Given the description of an element on the screen output the (x, y) to click on. 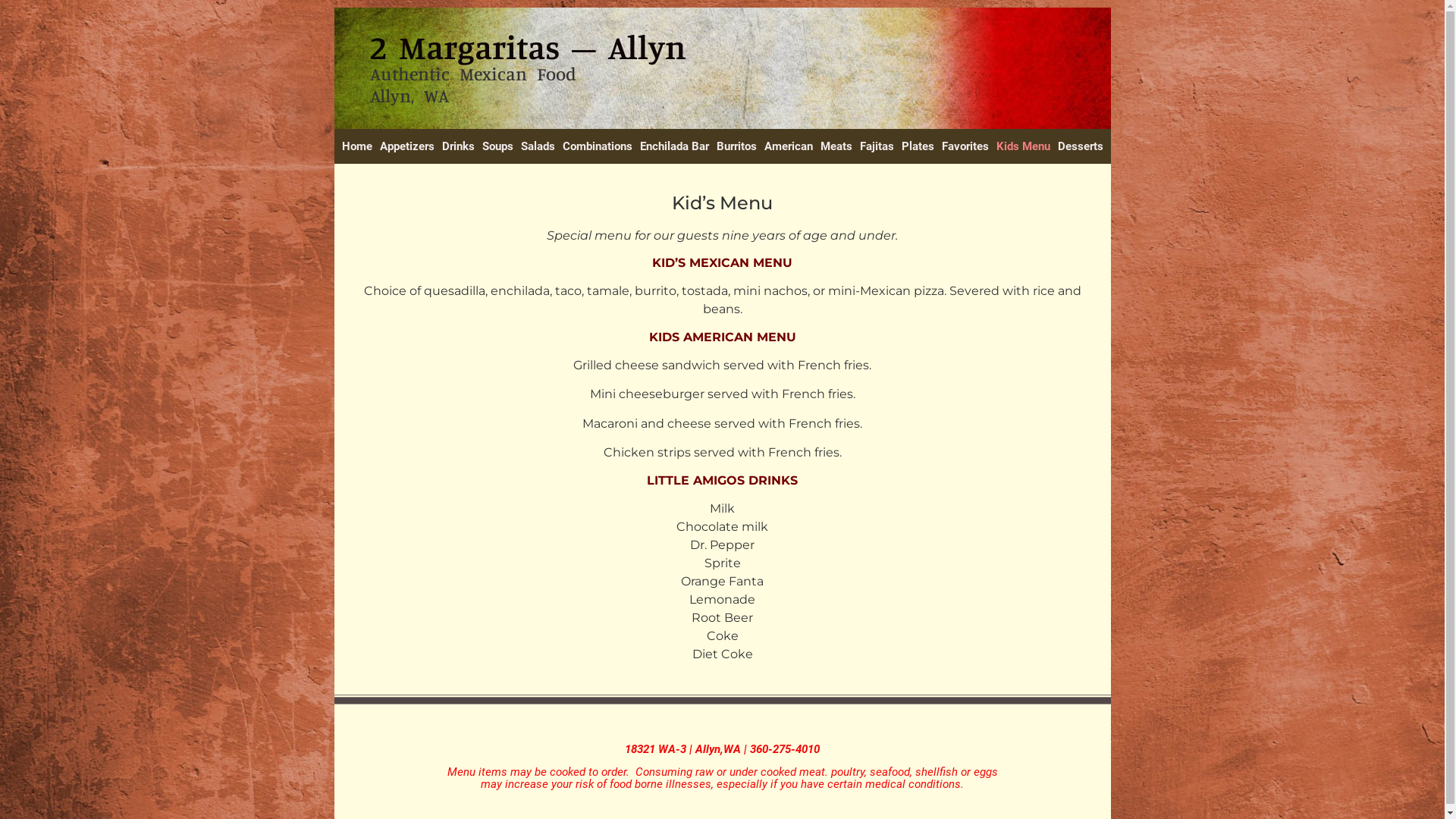
Drinks Element type: text (458, 145)
Kids Menu Element type: text (1022, 145)
Combinations Element type: text (596, 145)
Meats Element type: text (835, 145)
Fajitas Element type: text (876, 145)
Appetizers Element type: text (407, 145)
Salads Element type: text (537, 145)
Desserts Element type: text (1080, 145)
Plates Element type: text (917, 145)
Favorites Element type: text (964, 145)
Burritos Element type: text (736, 145)
American Element type: text (787, 145)
Home Element type: text (357, 145)
Soups Element type: text (496, 145)
Enchilada Bar Element type: text (673, 145)
